Given the description of an element on the screen output the (x, y) to click on. 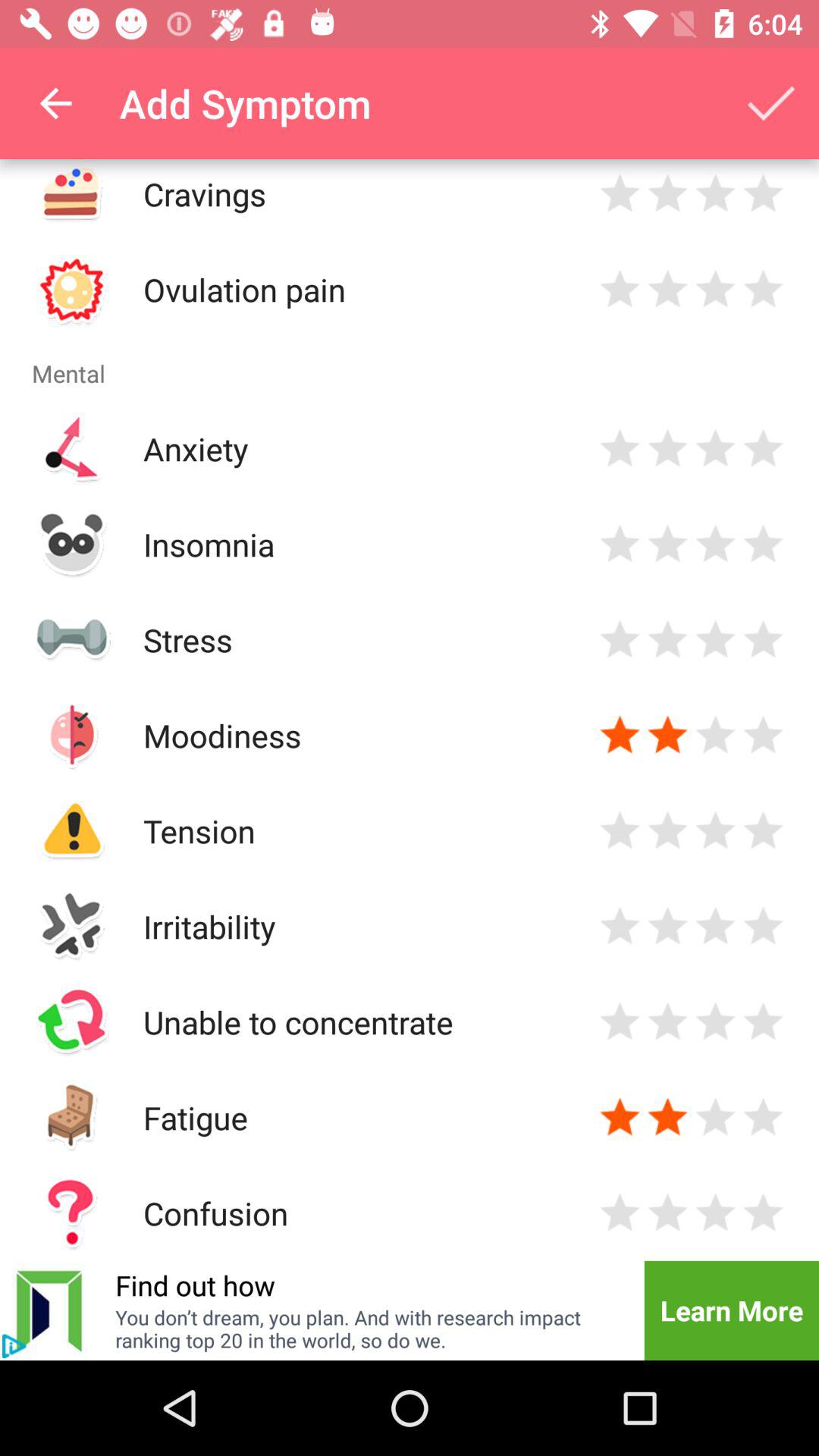
give three stars to moodiness (715, 735)
